Given the description of an element on the screen output the (x, y) to click on. 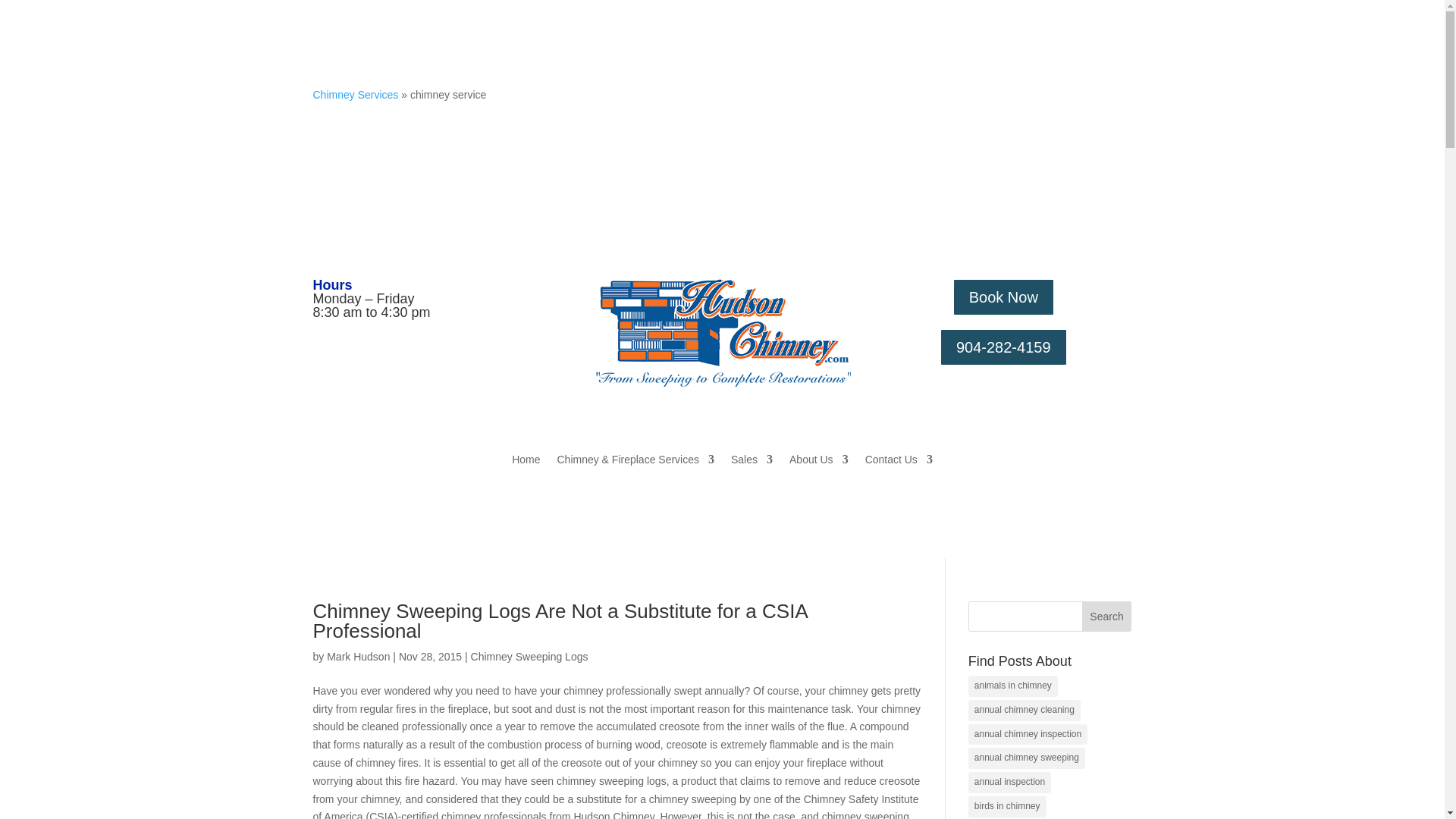
Home (526, 462)
Book Now (1003, 297)
Chimney Services (355, 94)
Contact Us (898, 462)
Mark Hudson (358, 656)
Chimney Sweeping Logs (529, 656)
904-282-4159 (1003, 347)
Original Photo- Hudson Chimney logo- Hudson Chimney (722, 334)
Sales (751, 462)
Search (1106, 616)
Posts by Mark Hudson (358, 656)
About Us (818, 462)
